Given the description of an element on the screen output the (x, y) to click on. 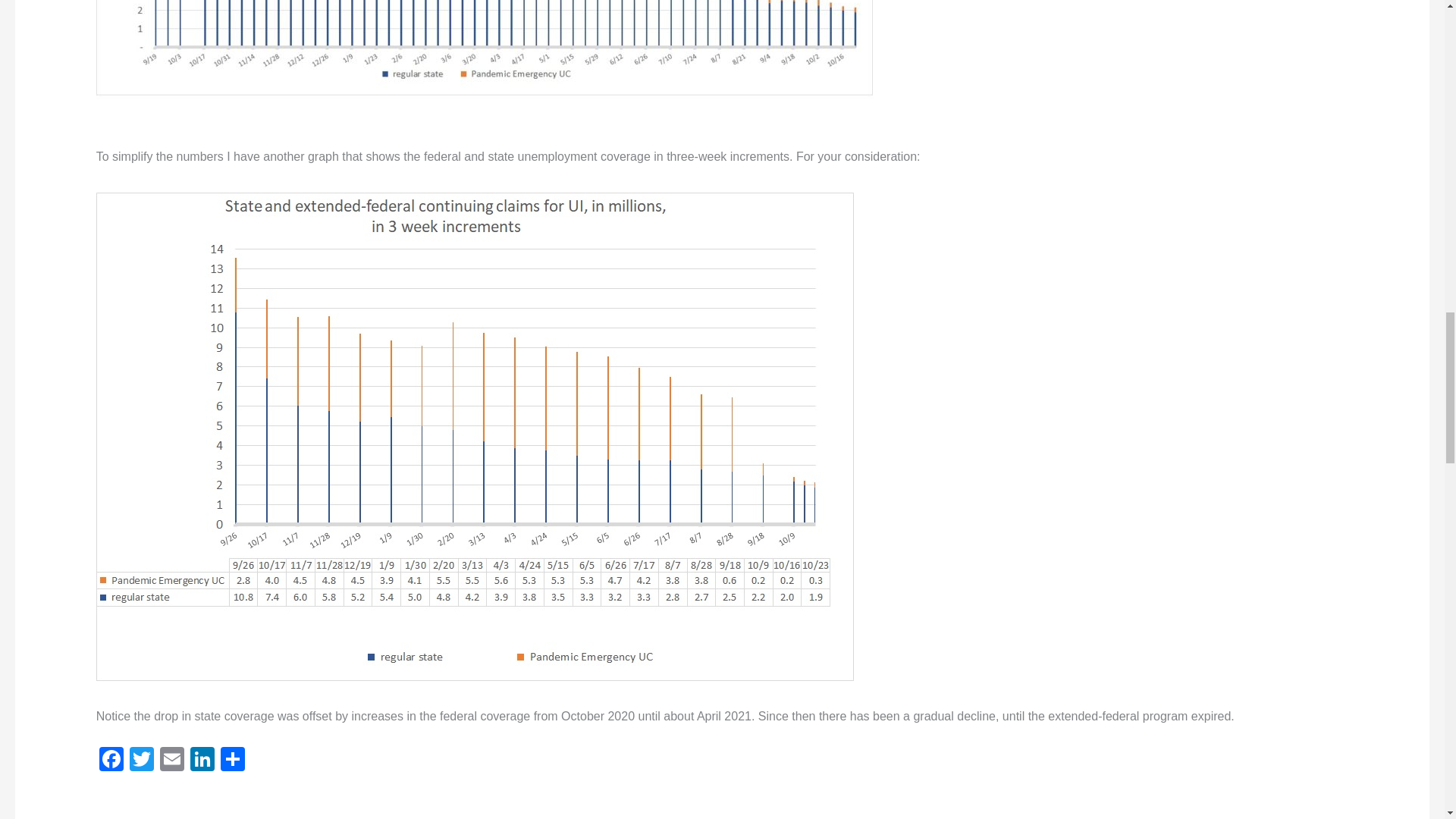
Twitter (141, 760)
Facebook (111, 760)
Email (172, 760)
Twitter (141, 760)
Share (231, 760)
Email (172, 760)
Facebook (111, 760)
LinkedIn (201, 760)
LinkedIn (201, 760)
